Given the description of an element on the screen output the (x, y) to click on. 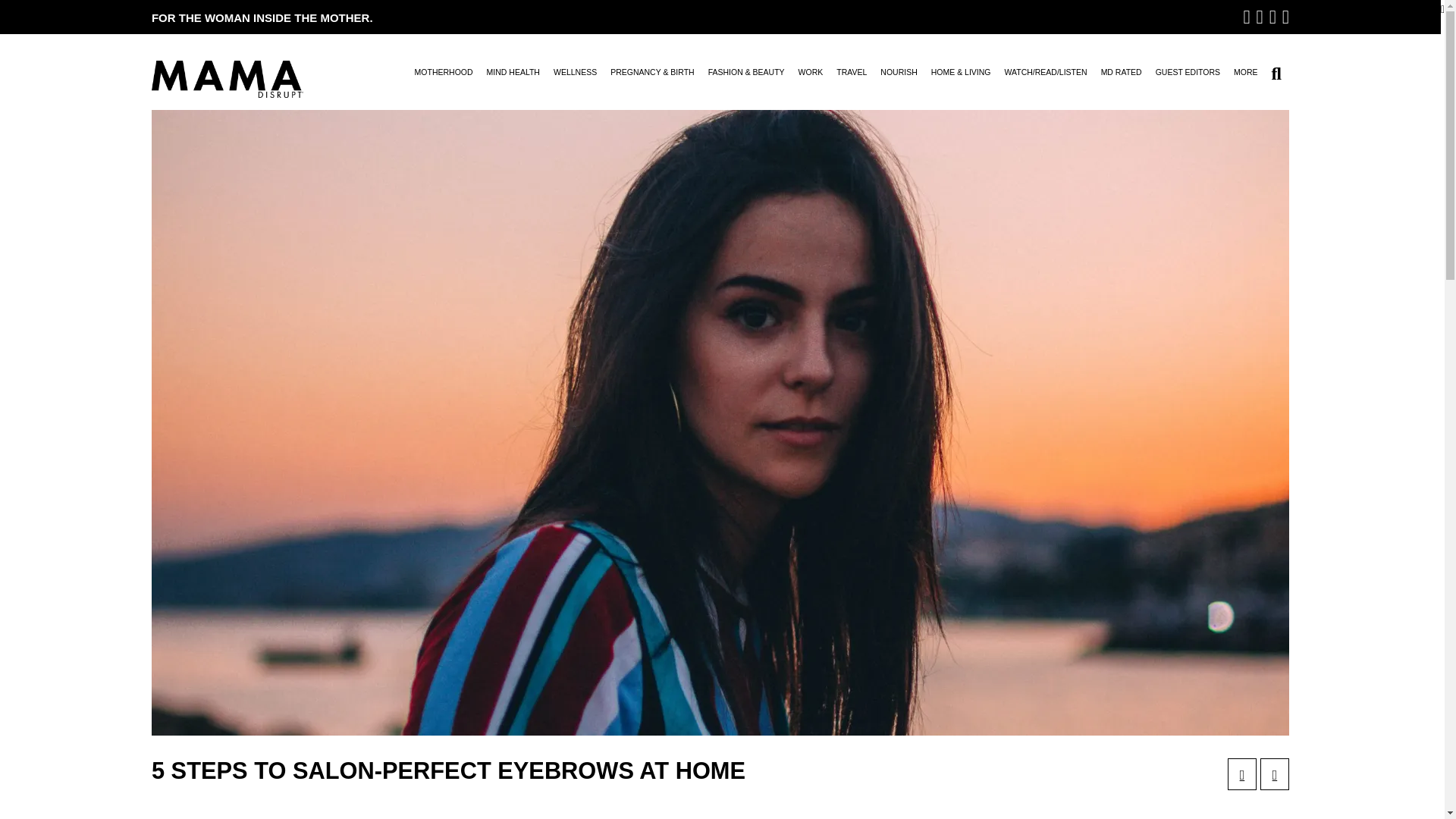
WELLNESS (574, 76)
MOTHERHOOD (444, 76)
GUEST EDITORS (1187, 76)
MIND HEALTH (513, 76)
